Given the description of an element on the screen output the (x, y) to click on. 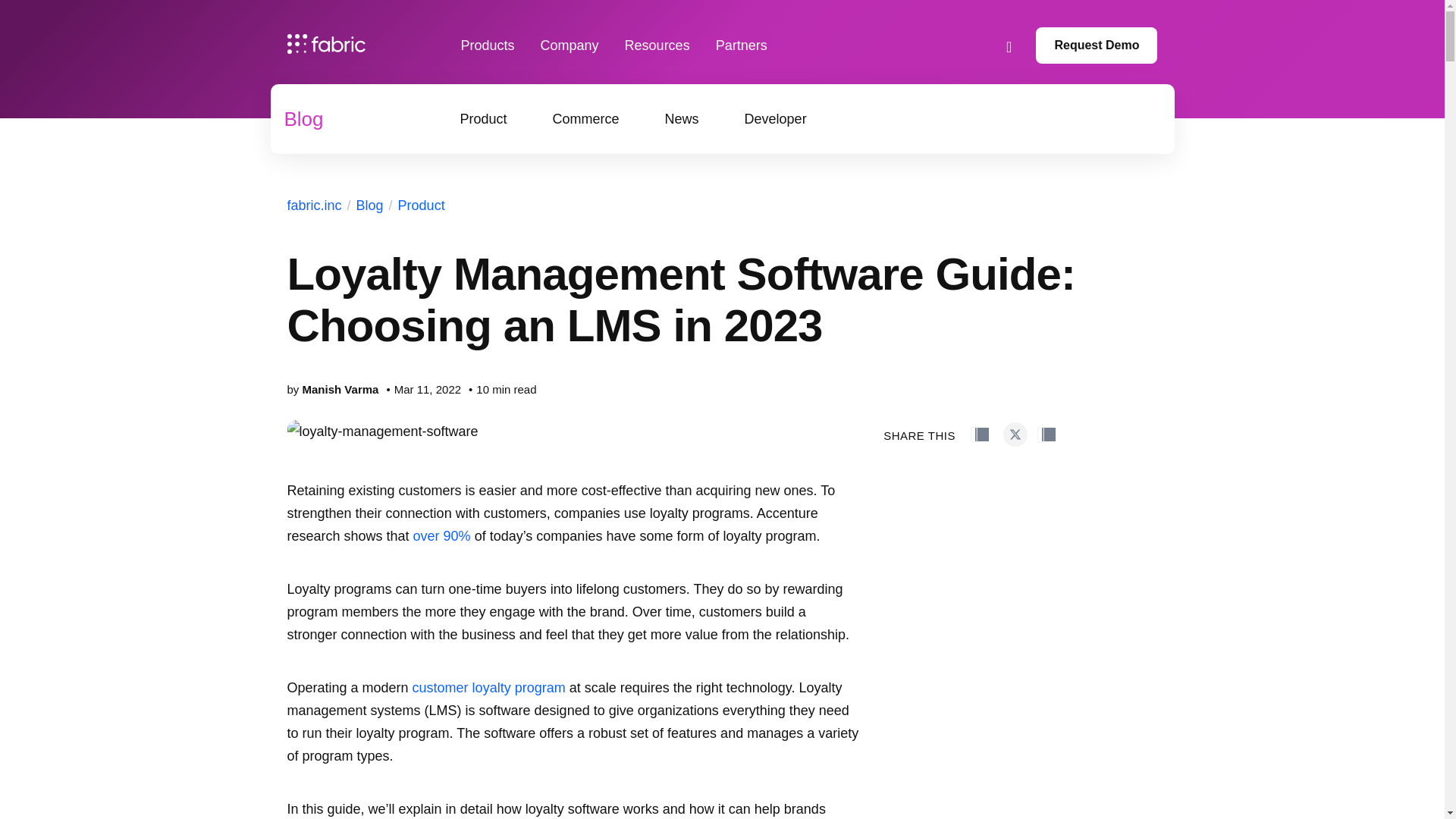
Company (569, 45)
Products (488, 45)
Resources (657, 45)
Partners (741, 45)
Request Demo (1096, 45)
